Given the description of an element on the screen output the (x, y) to click on. 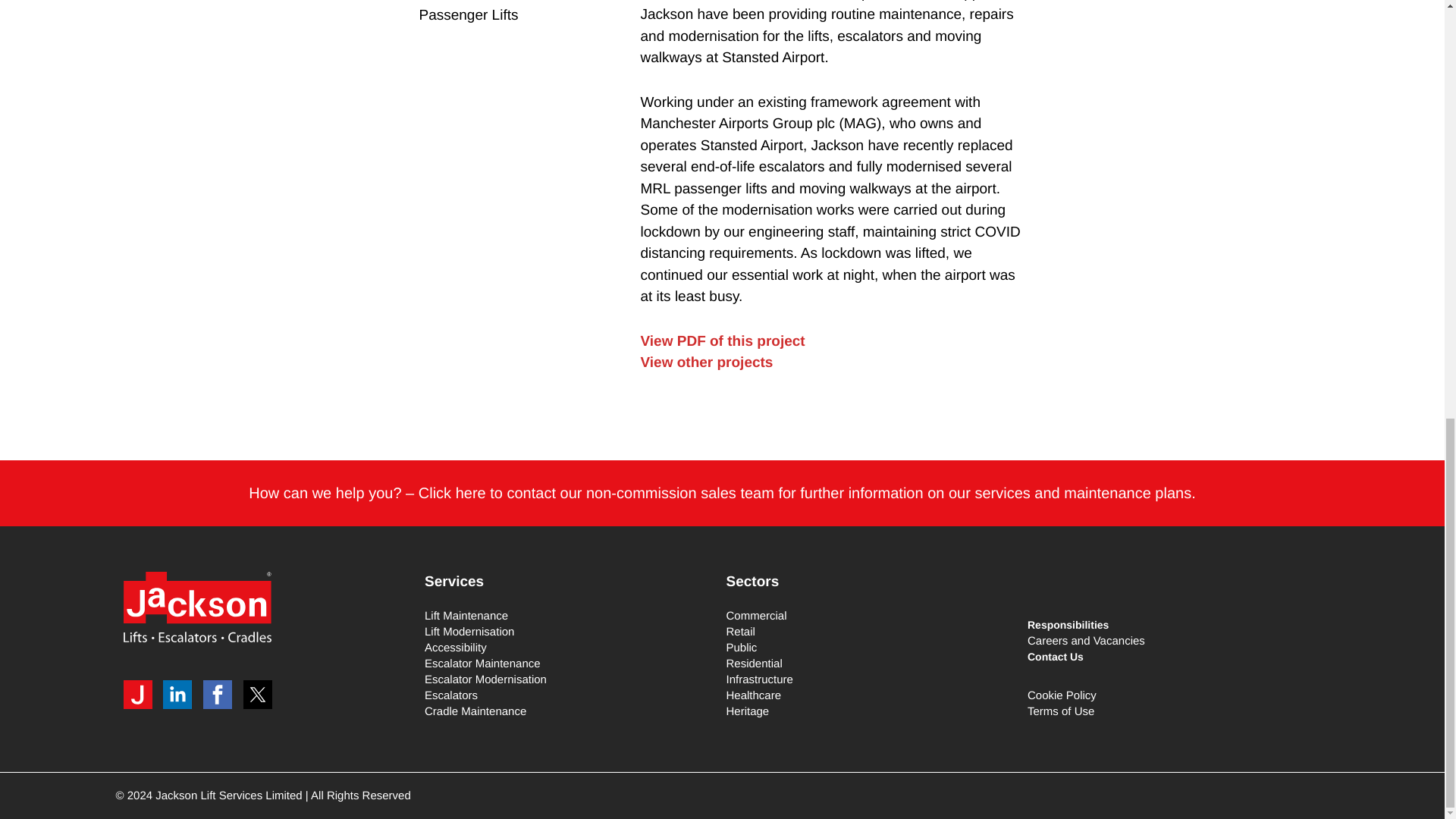
Jackson Lifts on LinkedIn (181, 694)
Jackson Lifts on Twitter (261, 694)
My Jackson (140, 694)
Jackson Lifts on Facebook (221, 694)
Contact Jackson Lifts (721, 493)
